Given the description of an element on the screen output the (x, y) to click on. 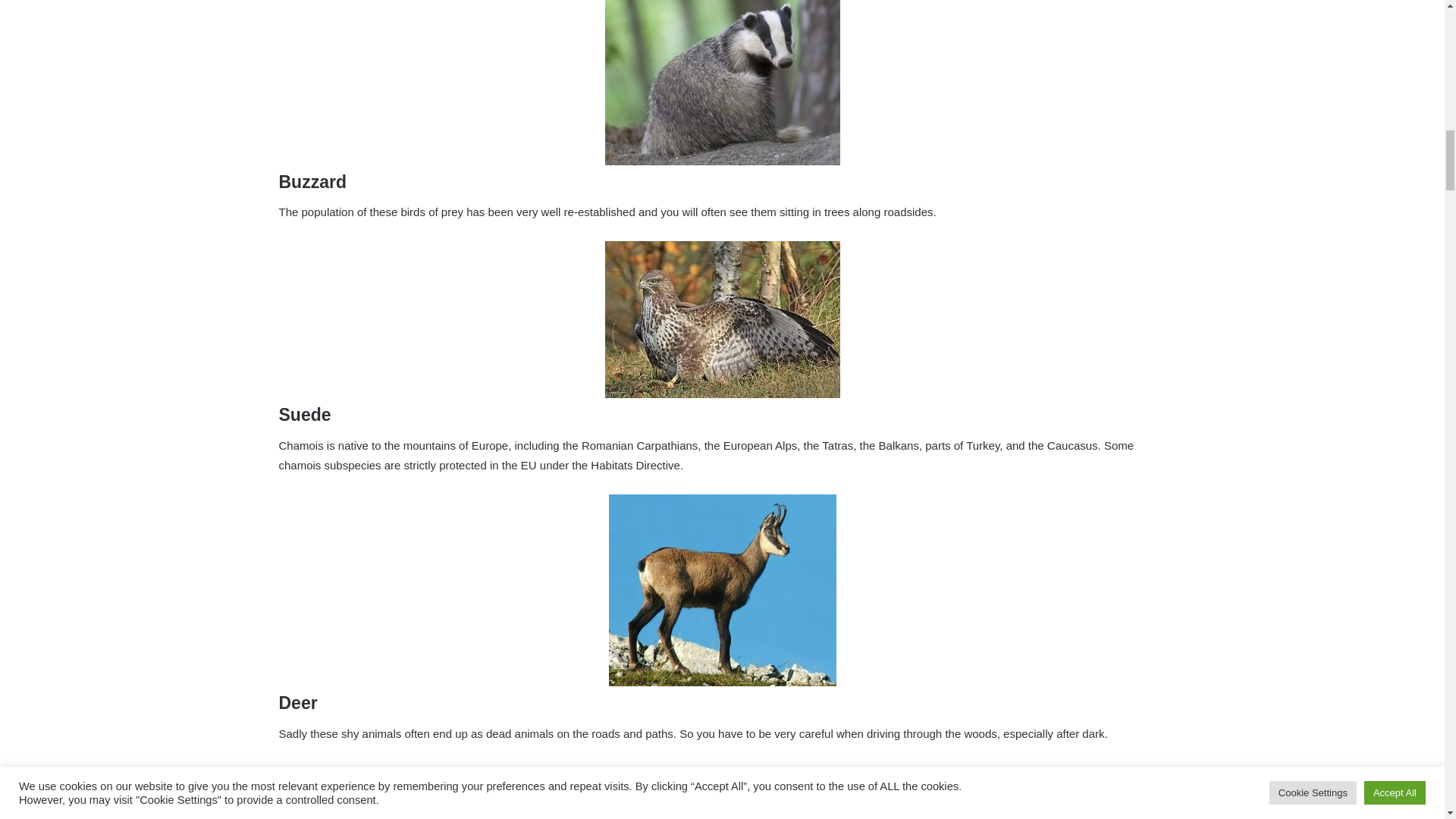
badger (722, 82)
suede (721, 590)
buzzard buzzard wildlife germany (722, 319)
